Given the description of an element on the screen output the (x, y) to click on. 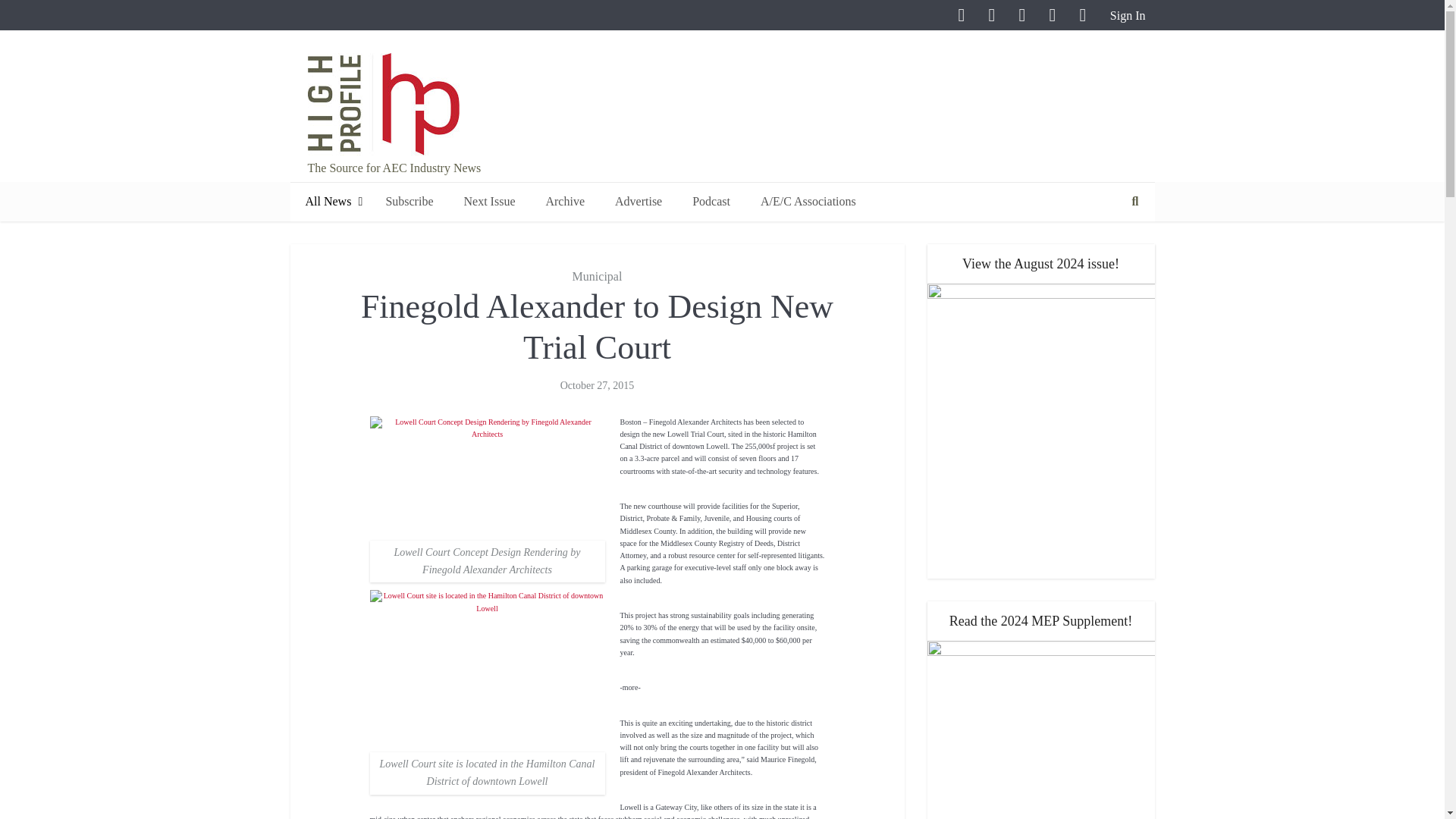
All News (329, 201)
Sign In (1125, 15)
The Annual Green Supplement 2020 is Live! (1040, 729)
